Given the description of an element on the screen output the (x, y) to click on. 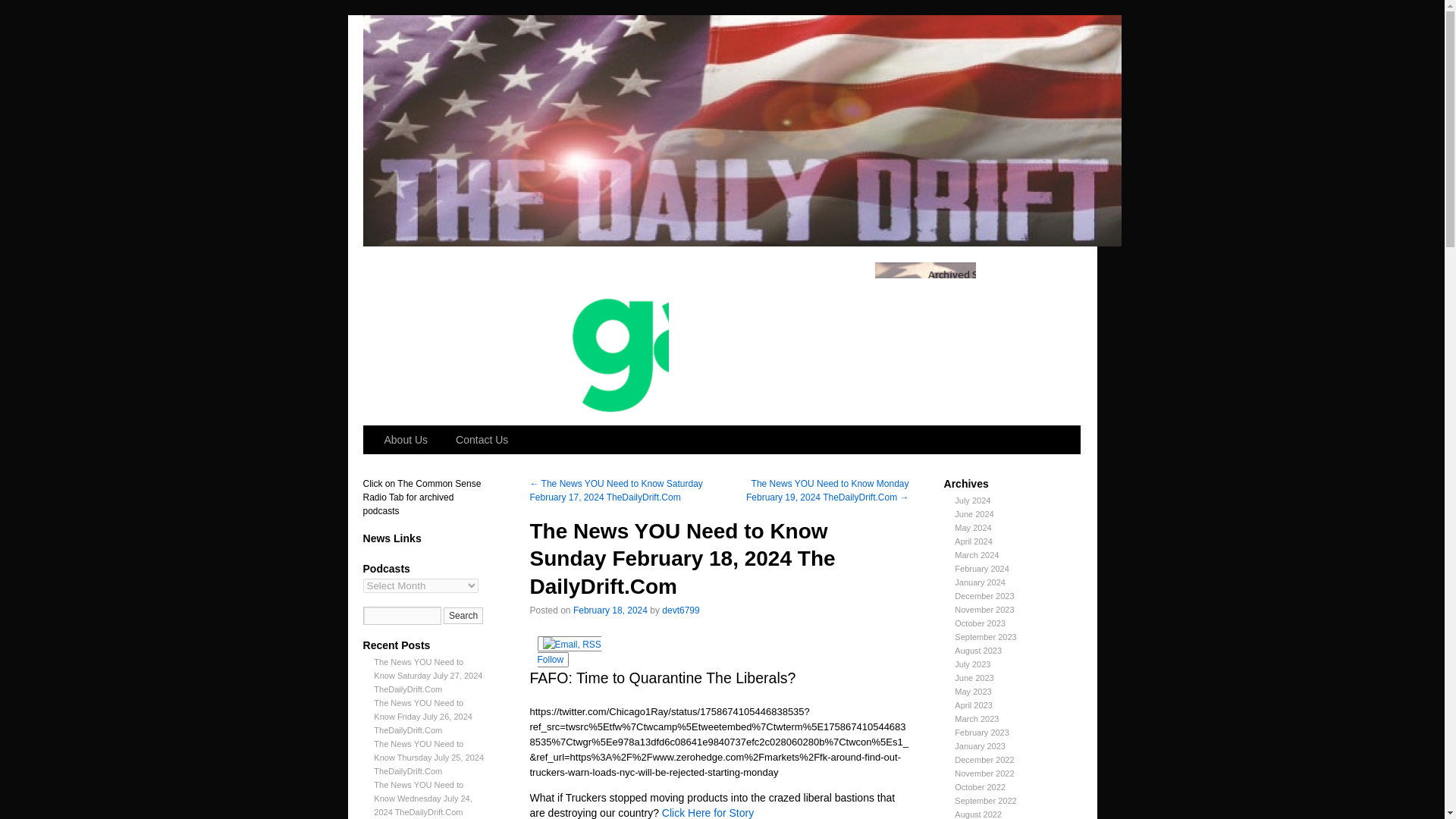
July 2024 (972, 500)
About Us (407, 439)
September 2023 (985, 636)
October 2023 (980, 623)
July 2023 (972, 664)
August 2023 (978, 650)
May 2024 (973, 527)
June 2023 (973, 677)
Search (463, 615)
February 2023 (982, 732)
8:02 am (610, 610)
